Given the description of an element on the screen output the (x, y) to click on. 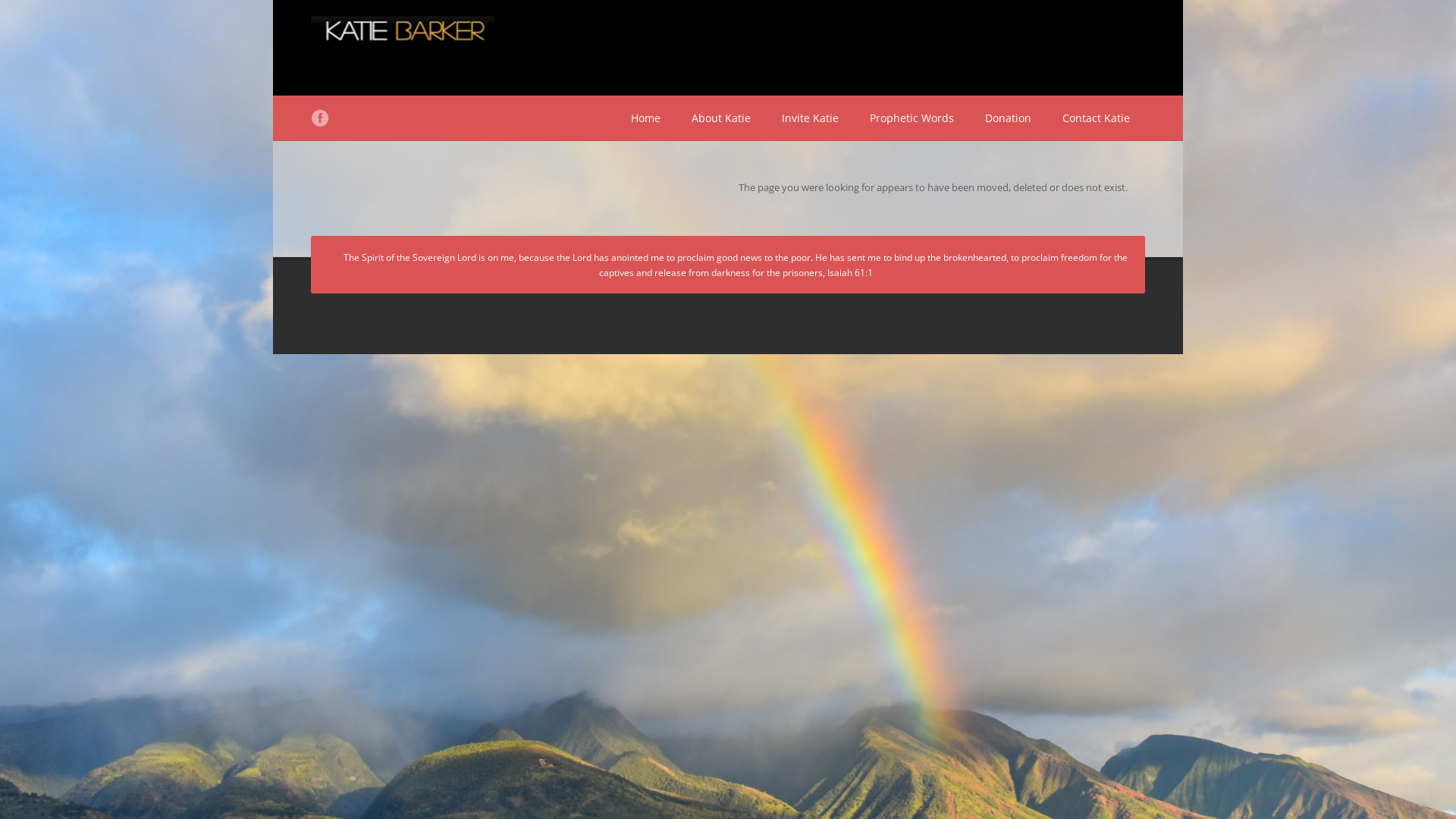
Facebook Element type: hover (319, 118)
Contact Katie Element type: text (1095, 118)
About Katie Element type: text (720, 118)
Donation Element type: text (1008, 118)
Home Element type: text (645, 118)
Invite Katie Element type: text (809, 118)
Prophetic Words Element type: text (911, 118)
